Given the description of an element on the screen output the (x, y) to click on. 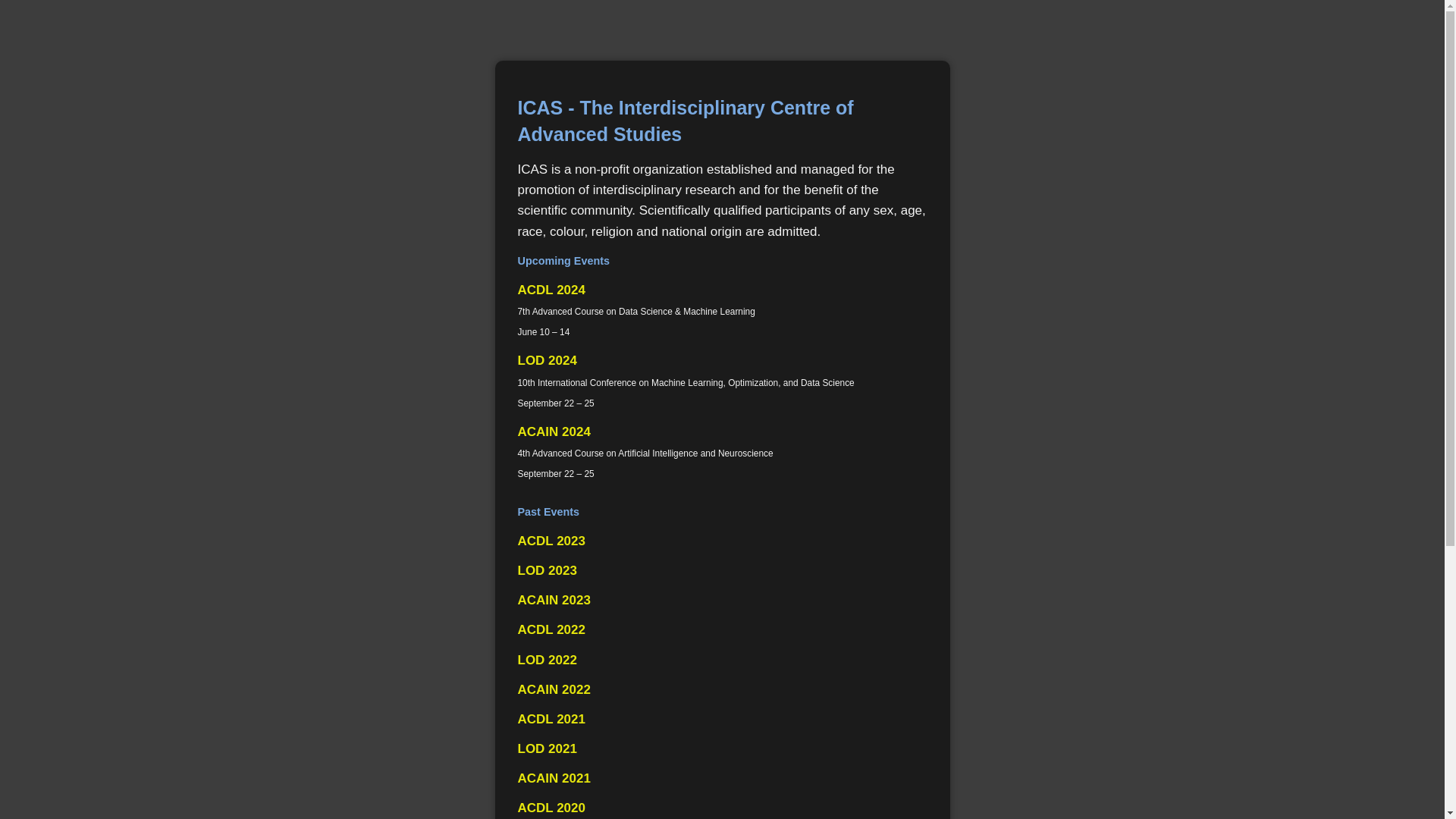
ACDL 2020 Element type: text (550, 807)
ACDL 2023 Element type: text (550, 540)
ACAIN 2021 Element type: text (553, 778)
ACDL 2024 Element type: text (550, 289)
ACAIN 2024 Element type: text (553, 431)
LOD 2021 Element type: text (546, 748)
ACDL 2022 Element type: text (550, 629)
Past Events Element type: text (721, 511)
LOD 2022 Element type: text (546, 659)
ACAIN 2022 Element type: text (553, 689)
LOD 2024 Element type: text (546, 360)
LOD 2023 Element type: text (546, 570)
ACAIN 2023 Element type: text (553, 600)
ACDL 2021 Element type: text (550, 719)
